Given the description of an element on the screen output the (x, y) to click on. 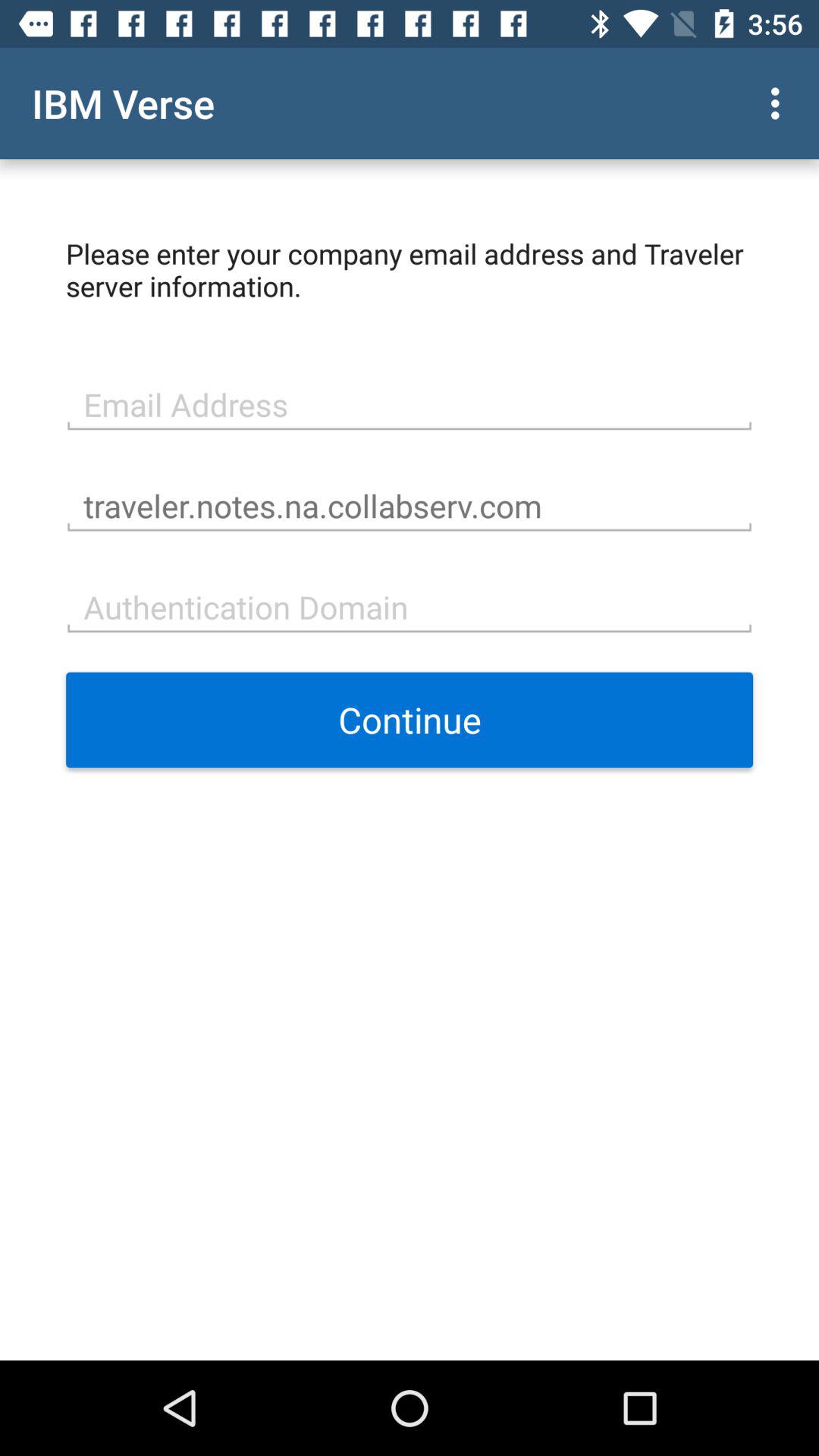
press icon above traveler notes na (409, 402)
